Given the description of an element on the screen output the (x, y) to click on. 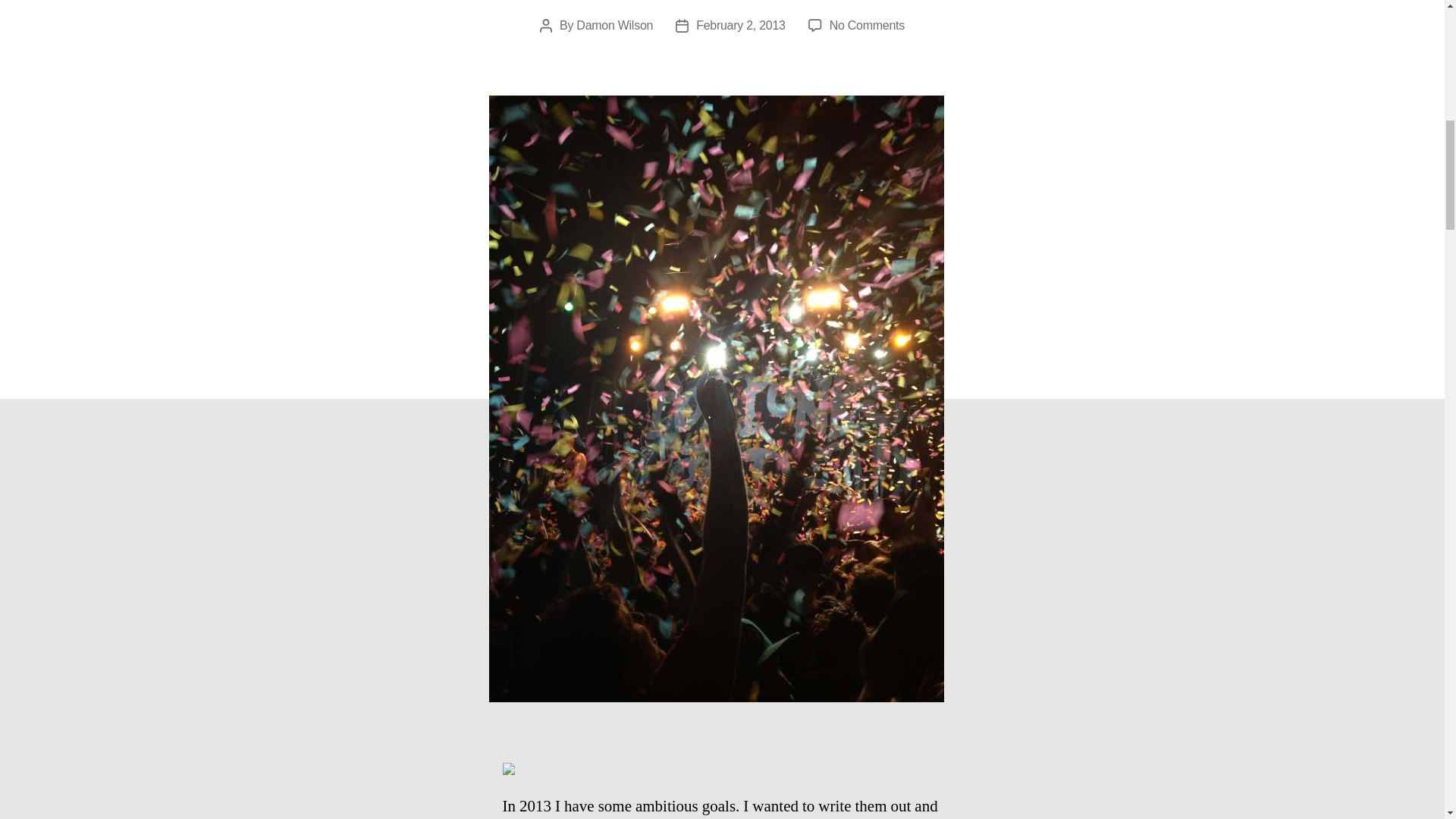
Damon Wilson (866, 24)
February 2, 2013 (614, 24)
